Given the description of an element on the screen output the (x, y) to click on. 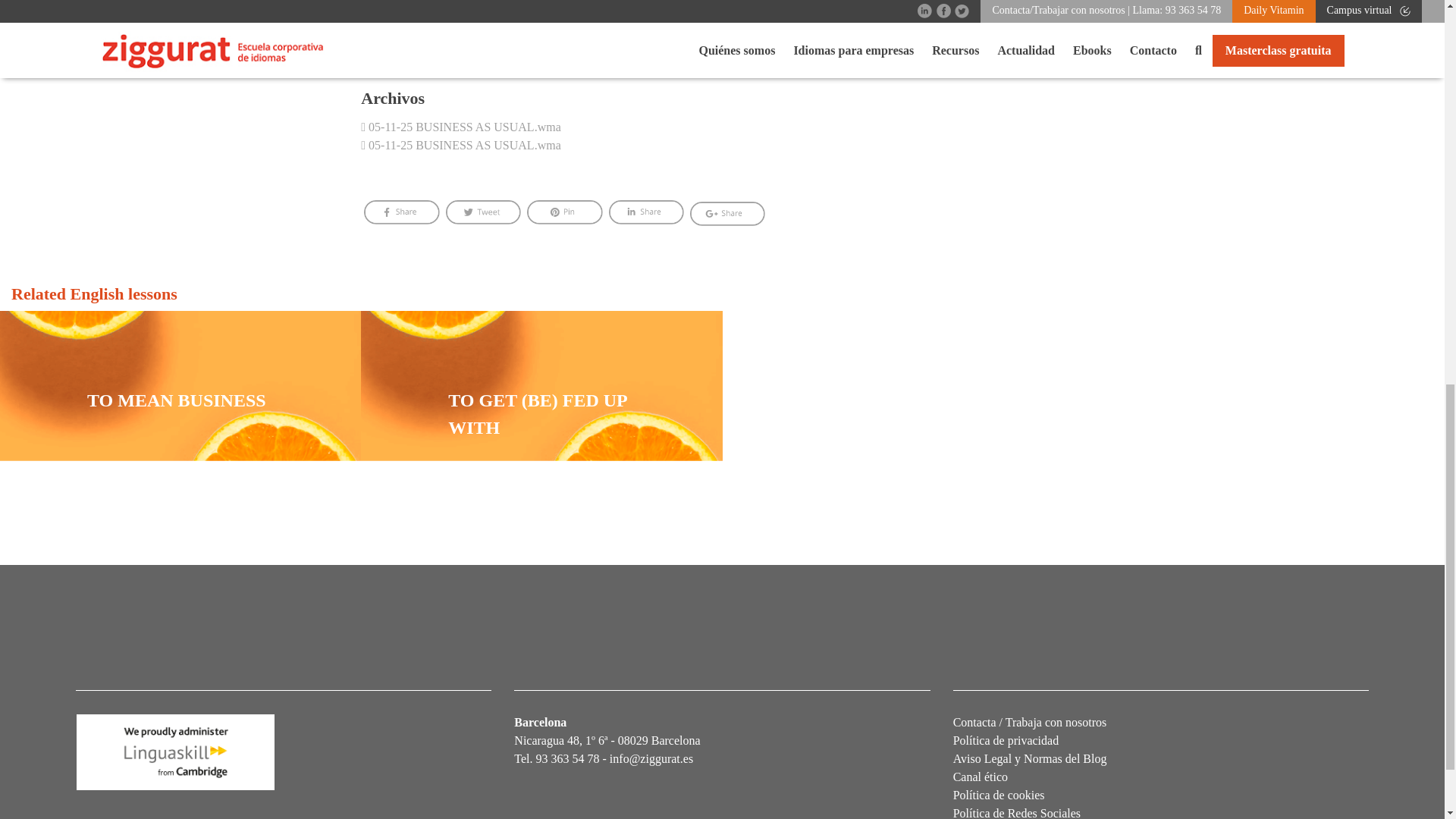
Pinterest (564, 212)
05-11-25 BUSINESS AS USUAL.wma (460, 144)
Twitter (483, 212)
93 363 54 78 (567, 758)
05-11-25 BUSINESS AS USUAL.wma (460, 126)
TO MEAN BUSINESS (180, 406)
LinkedIn (646, 212)
Facebook (401, 212)
